Given the description of an element on the screen output the (x, y) to click on. 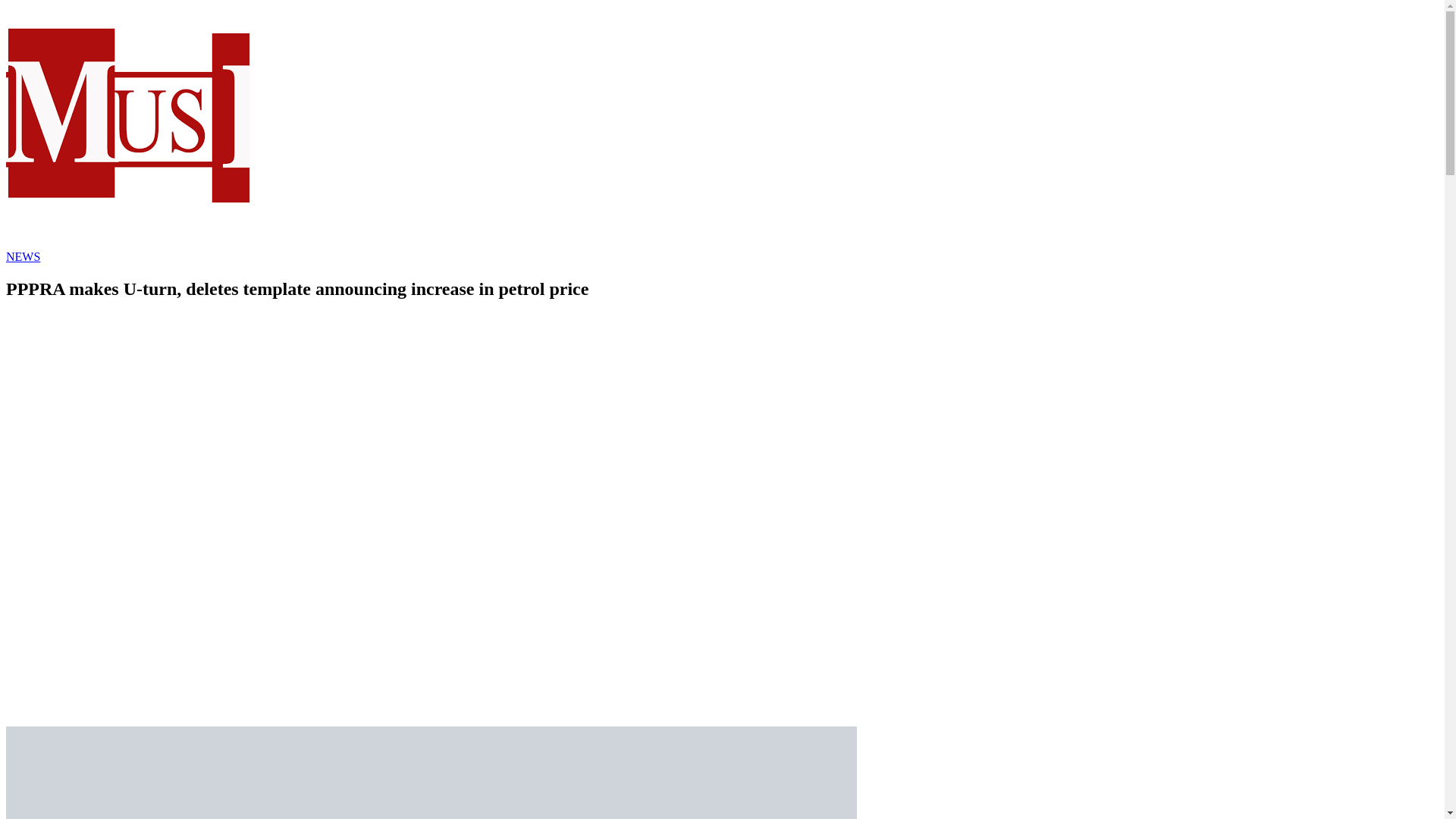
NEWS (22, 256)
MusBizu (126, 242)
PPRA ORG (431, 772)
